Given the description of an element on the screen output the (x, y) to click on. 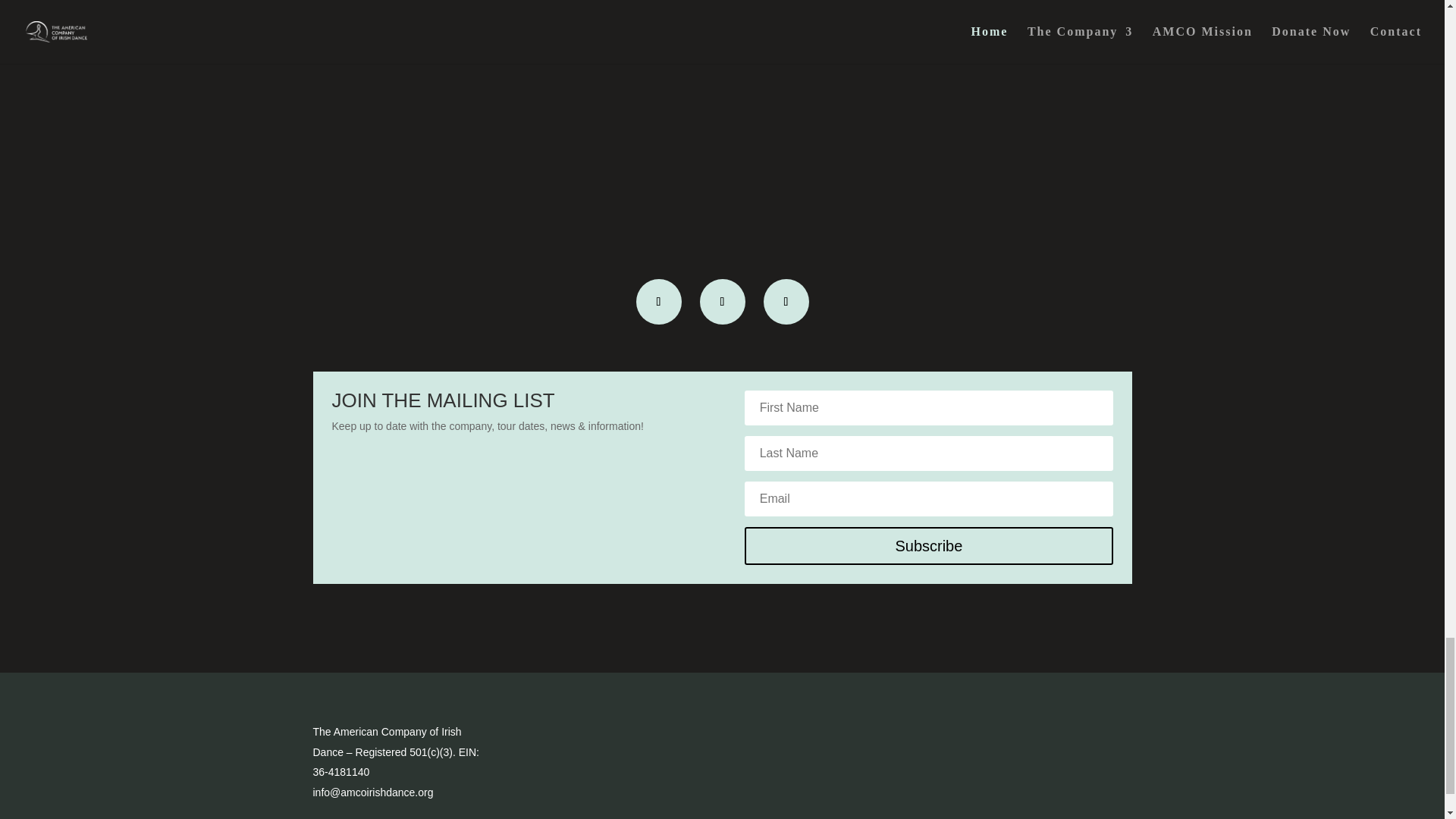
Follow on Instagram (721, 301)
Follow on Facebook (657, 301)
Follow on Youtube (785, 301)
Subscribe (928, 546)
